Given the description of an element on the screen output the (x, y) to click on. 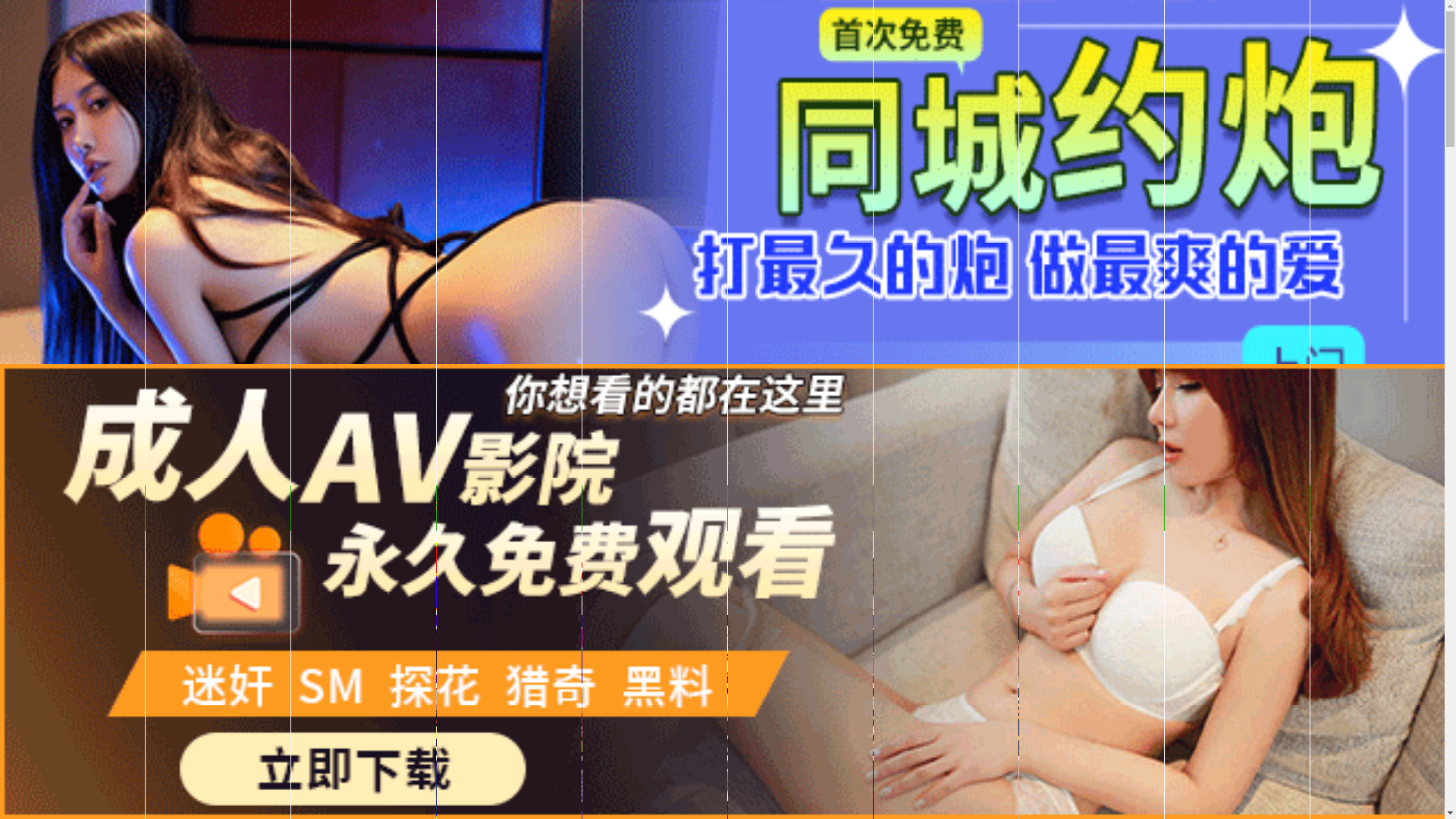
3d0571.Com Element type: text (411, 503)
www.xmkk5.com Element type: text (693, 515)
